Given the description of an element on the screen output the (x, y) to click on. 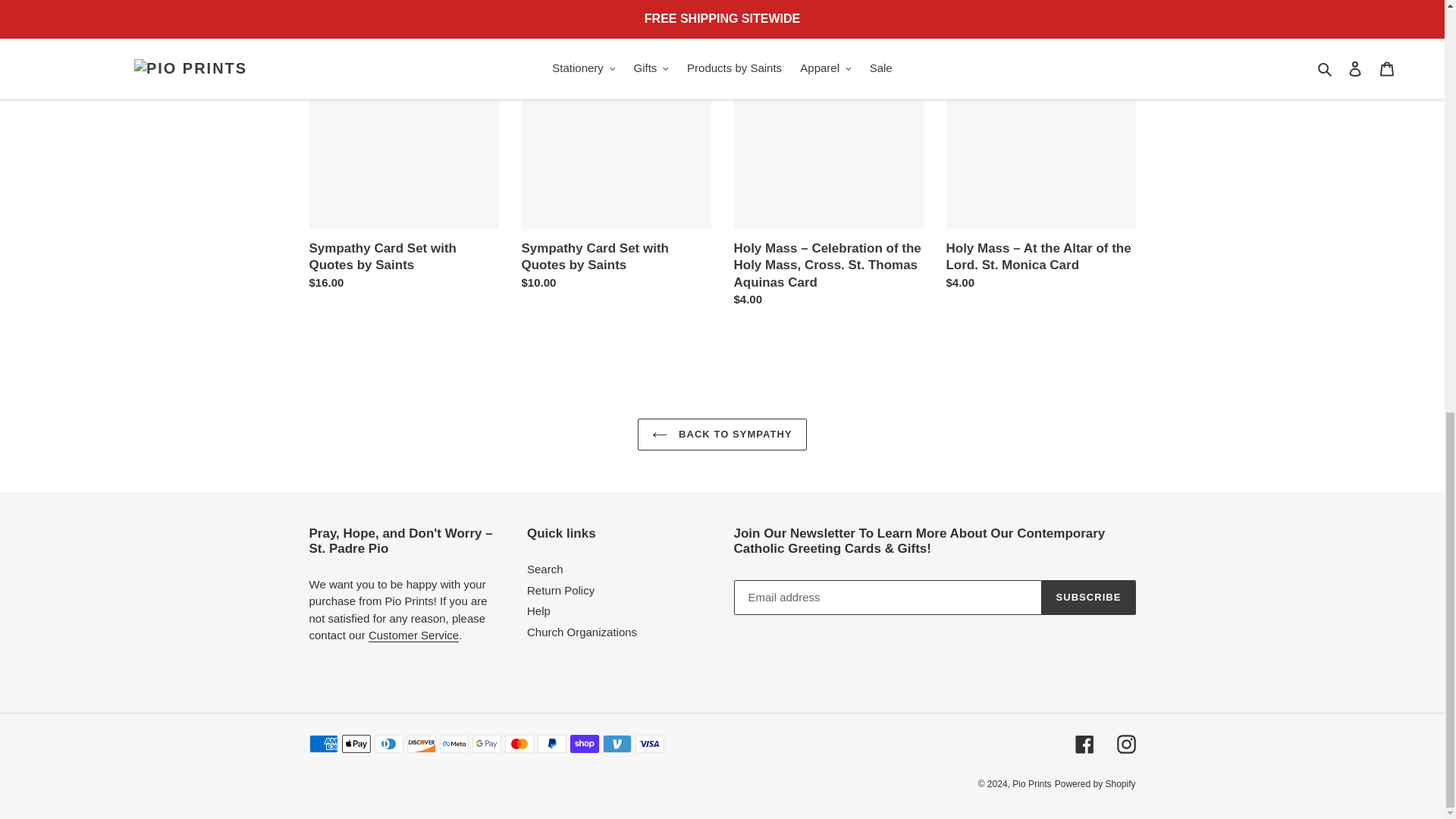
PayPal (551, 743)
Venmo (616, 743)
Meta Pay (453, 743)
American Express (322, 743)
Google Pay (485, 743)
Apple Pay (354, 743)
Mastercard (519, 743)
Discover (420, 743)
Diners Club (388, 743)
Shop Pay (584, 743)
